Given the description of an element on the screen output the (x, y) to click on. 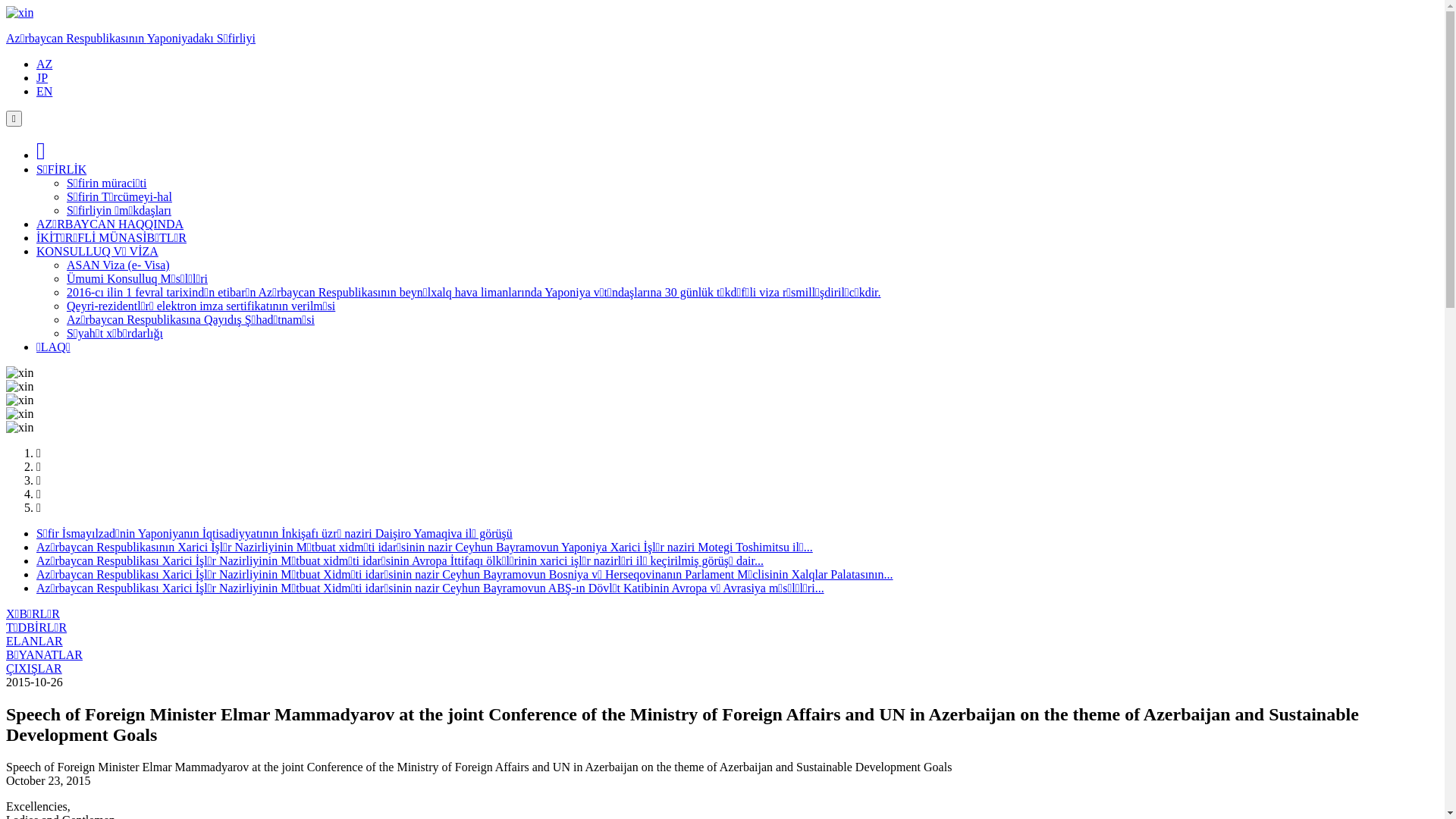
ELANLAR Element type: text (34, 640)
EN Element type: text (44, 90)
JP Element type: text (41, 77)
AZ Element type: text (44, 63)
ASAN Viza (e- Visa) Element type: text (117, 264)
